Given the description of an element on the screen output the (x, y) to click on. 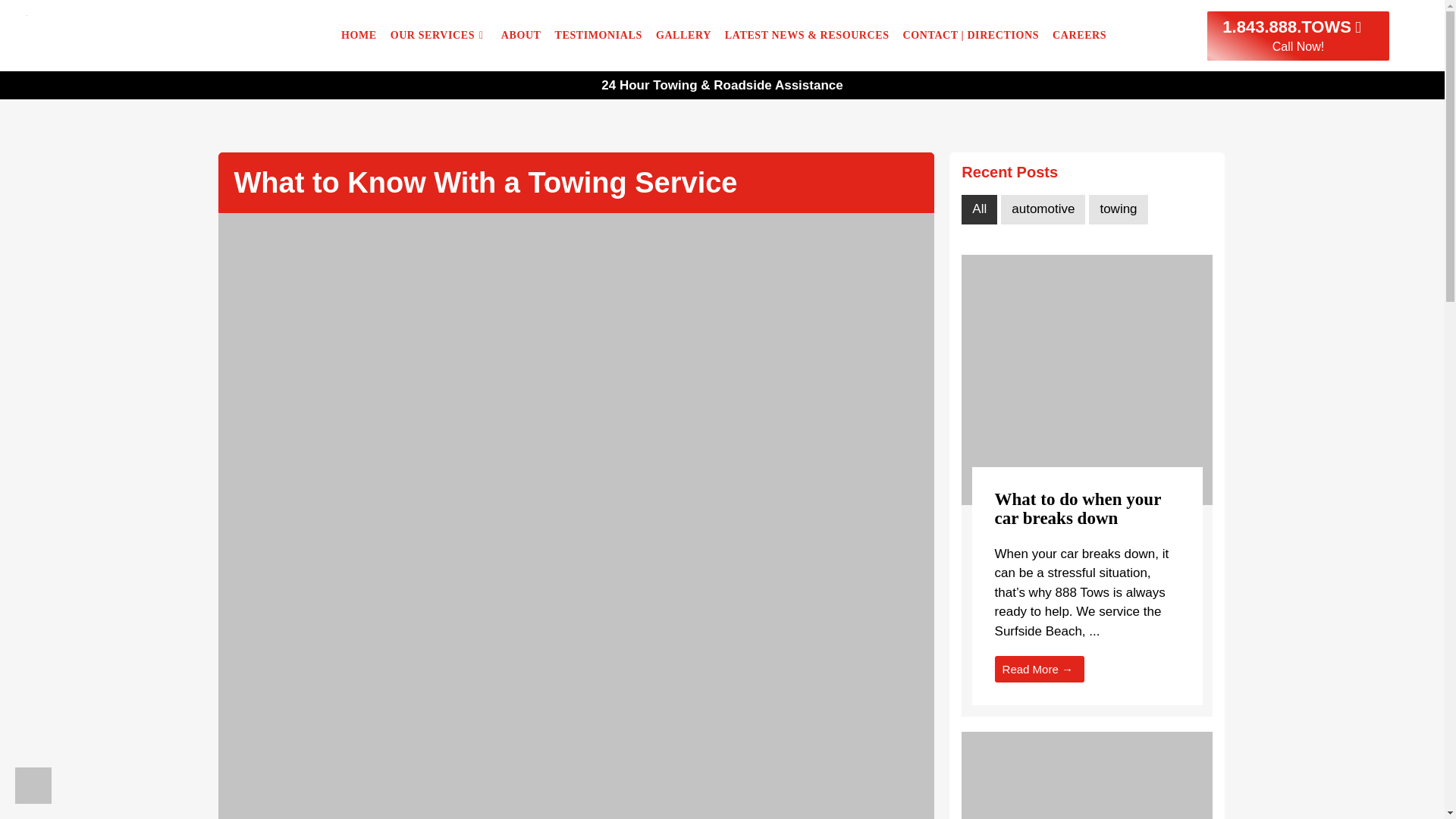
Open accessibility tools (32, 785)
ABOUT (521, 35)
OUR SERVICES (439, 35)
